Given the description of an element on the screen output the (x, y) to click on. 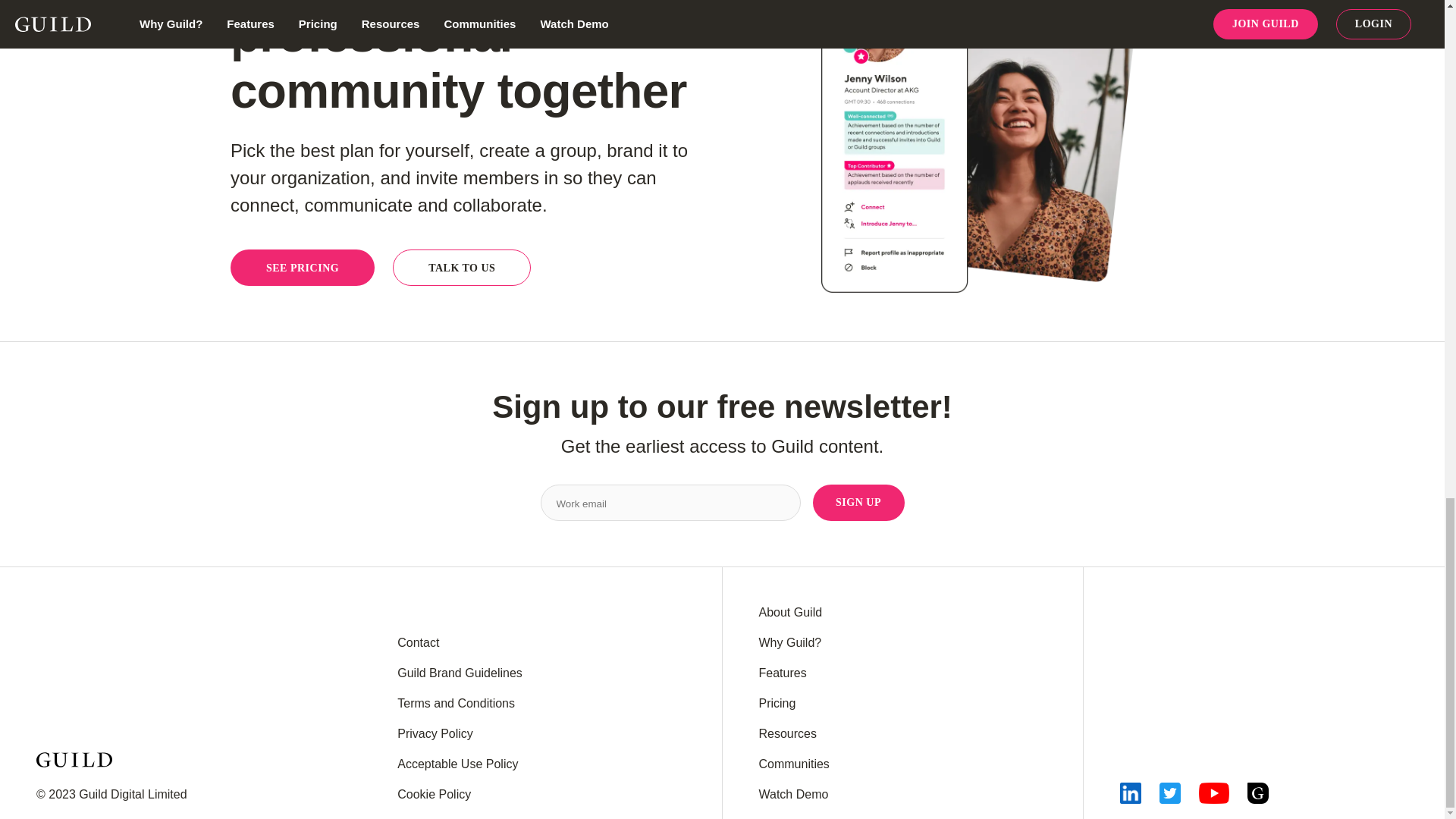
Acceptable Use Policy (457, 763)
Contact (418, 642)
TALK TO US (462, 267)
Communities (793, 763)
Features (782, 672)
About Guild (790, 612)
Why Guild? (789, 642)
Resources (786, 733)
SIGN UP (858, 502)
SEE PRICING (302, 267)
